Given the description of an element on the screen output the (x, y) to click on. 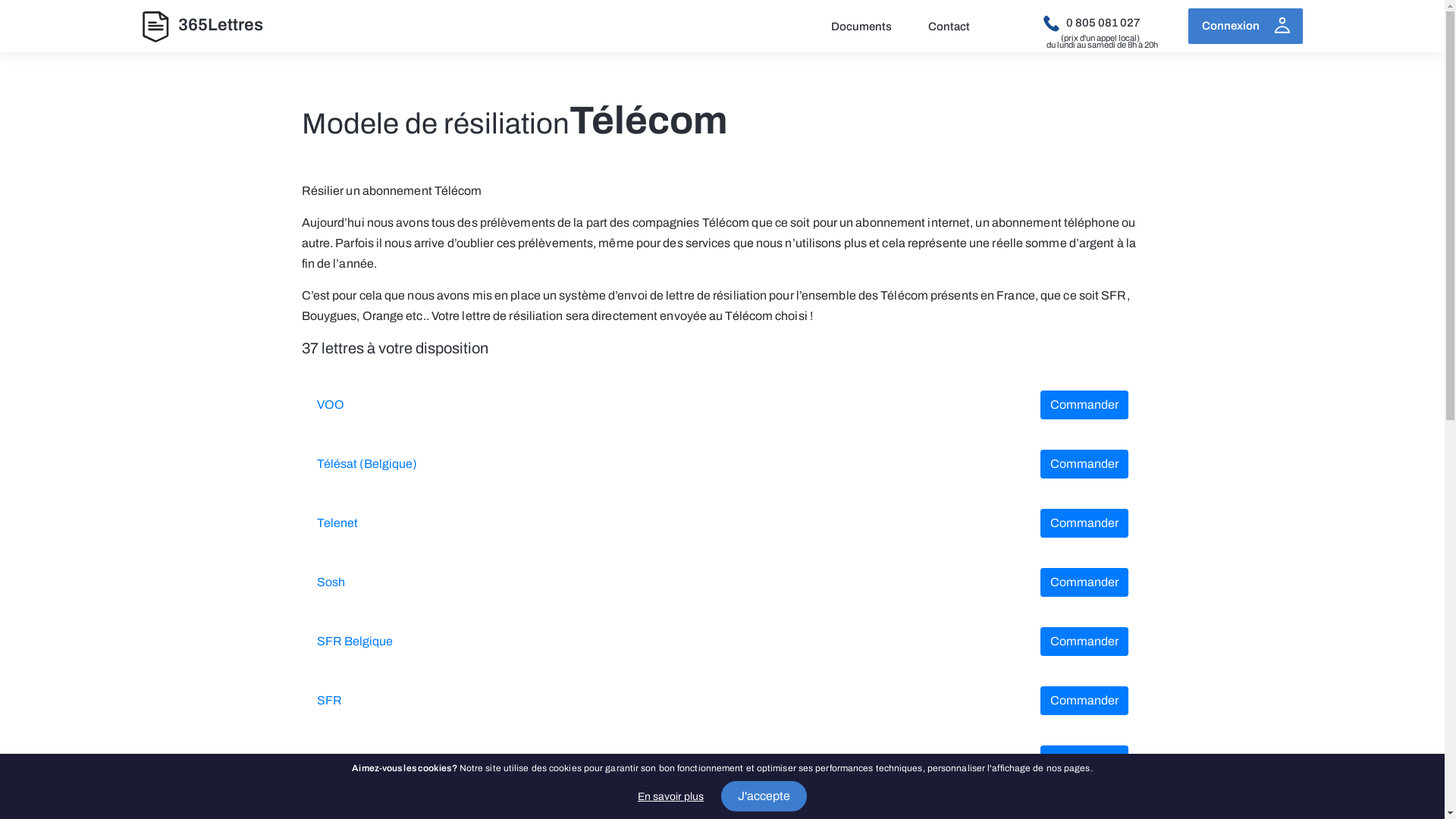
Commander Element type: text (1084, 581)
Commander Element type: text (1084, 404)
Contact Element type: text (949, 26)
Commander Element type: text (1084, 522)
Commander Element type: text (1084, 700)
Telenet Element type: text (336, 523)
Commander Element type: text (1084, 759)
J'accepte Element type: text (763, 796)
365Lettres Element type: text (157, 26)
Connexion Element type: text (1244, 25)
En savoir plus Element type: text (670, 796)
Commander Element type: text (1084, 463)
Sosh Element type: text (330, 582)
Documents Element type: text (861, 26)
Commander Element type: text (1084, 641)
VOO Element type: text (330, 404)
SFR Element type: text (329, 700)
Scarlet Element type: text (335, 759)
SFR Belgique Element type: text (354, 641)
